Given the description of an element on the screen output the (x, y) to click on. 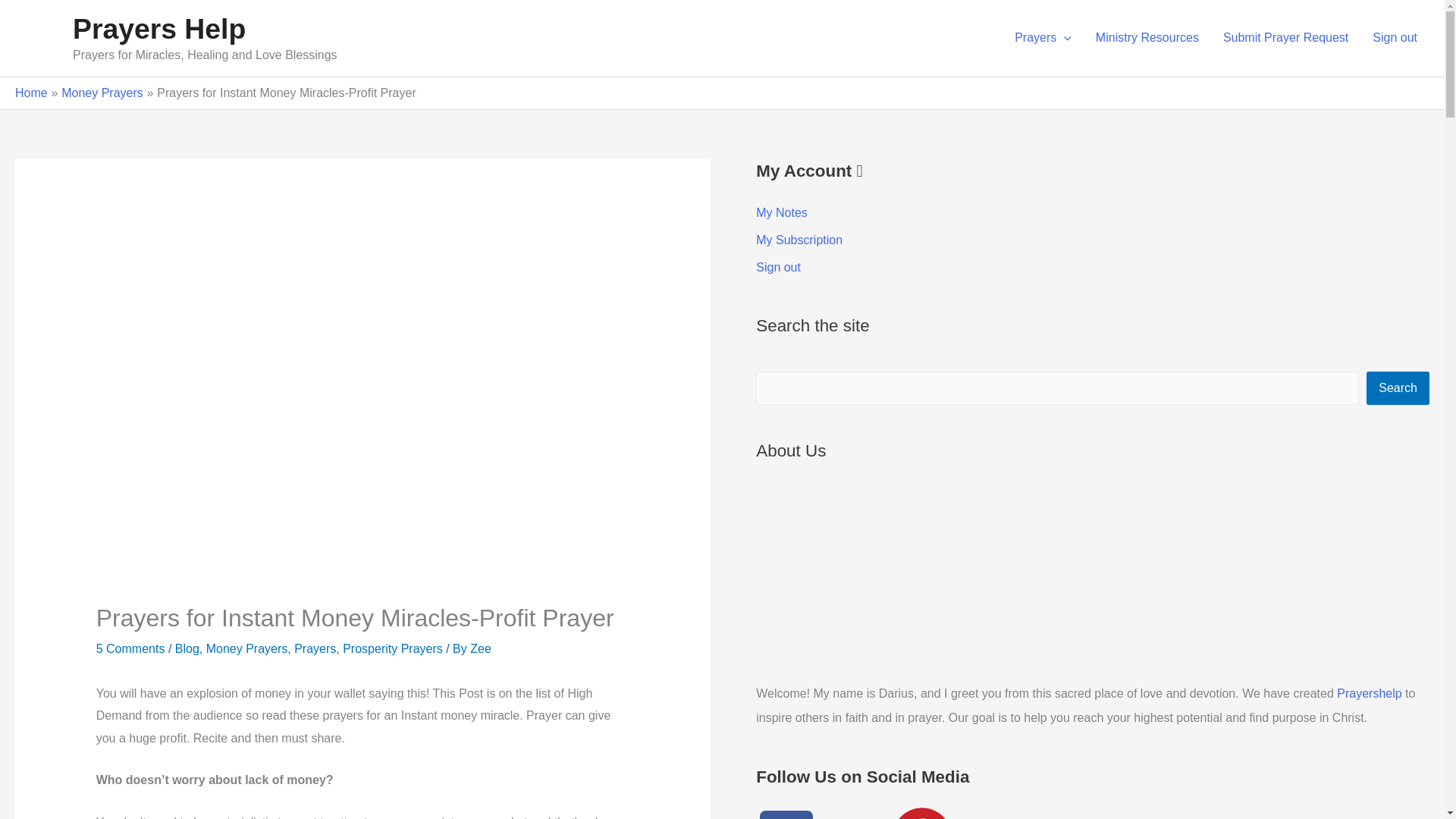
5 Comments (130, 648)
Money Prayers (247, 648)
Prayers (315, 648)
Money Prayers (101, 92)
Ministry Resources (1147, 37)
Sign out (1394, 37)
Prayers Help (159, 29)
View all posts by Zee (481, 648)
Blog (186, 648)
Prayers (1043, 37)
